Given the description of an element on the screen output the (x, y) to click on. 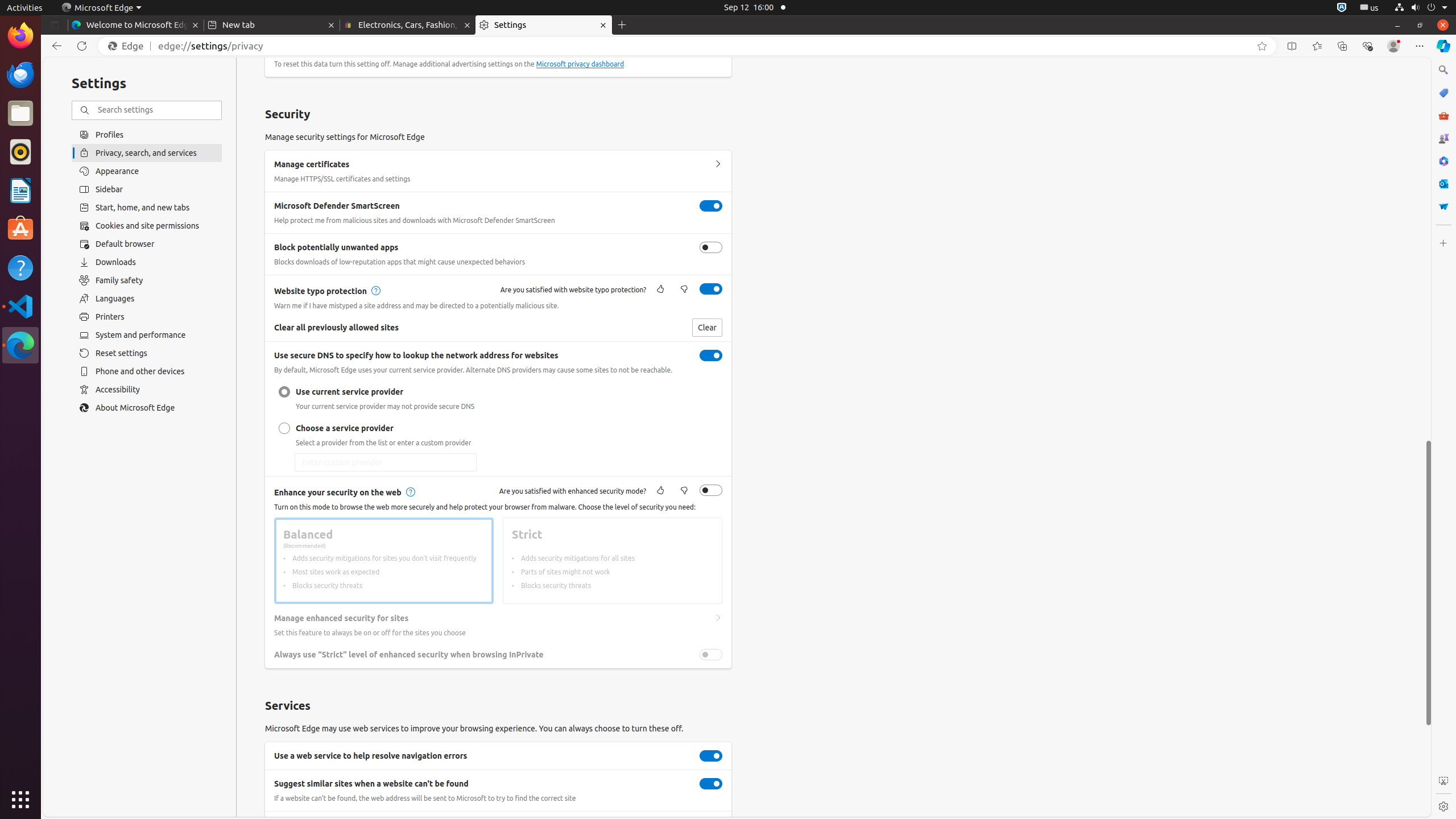
Choose a service provider Select a provider from the list or enter a custom provider Element type: radio-button (284, 427)
Add this page to favorites (Ctrl+D) Element type: push-button (1261, 46)
Use secure DNS to specify how to lookup the network address for websites Element type: check-box (710, 355)
Electronics, Cars, Fashion, Collectibles & More | eBay Element type: page-tab (407, 25)
Manage enhanced security for sites Element type: push-button (717, 617)
